Given the description of an element on the screen output the (x, y) to click on. 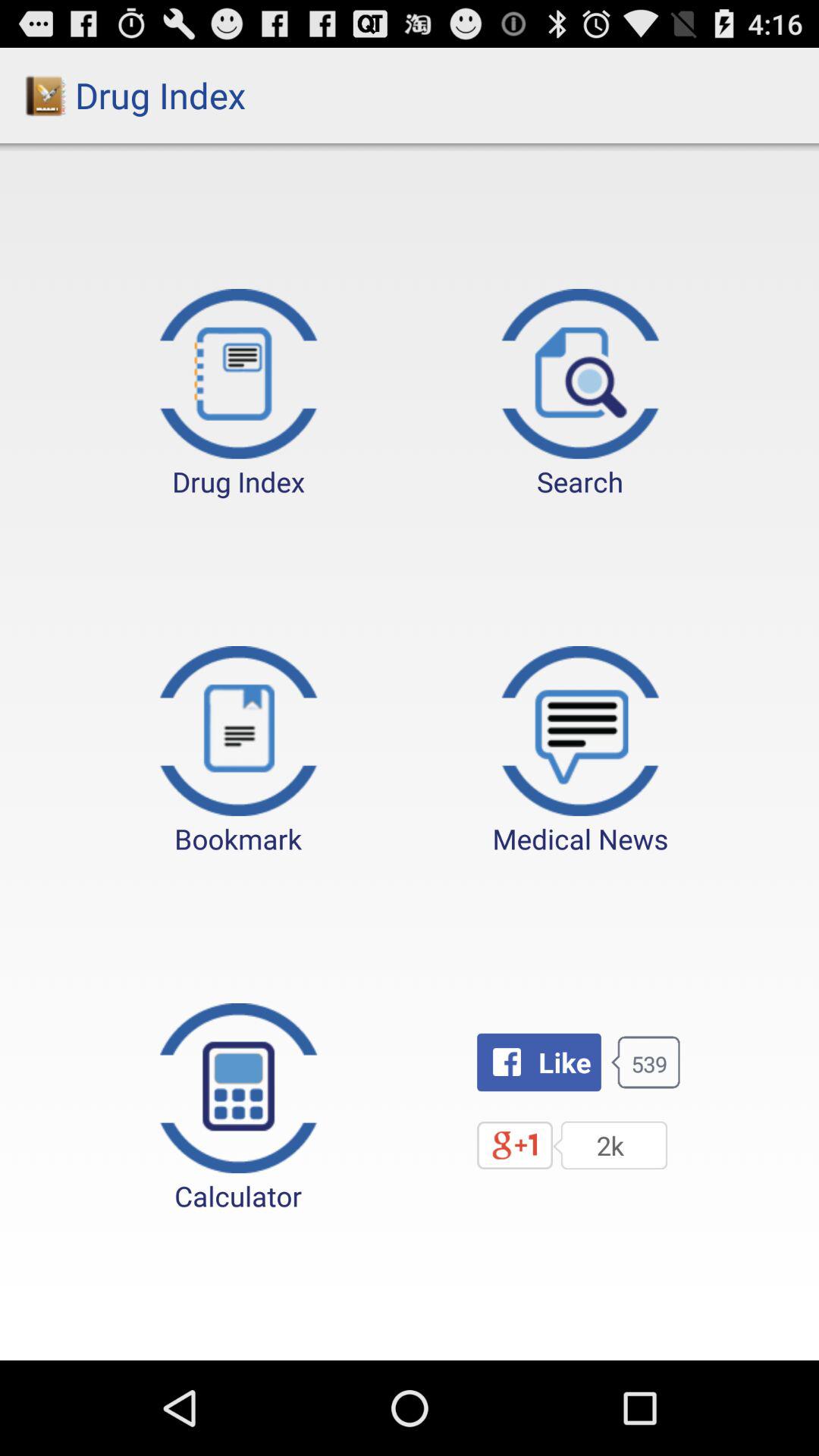
choose the bookmark icon (238, 751)
